Given the description of an element on the screen output the (x, y) to click on. 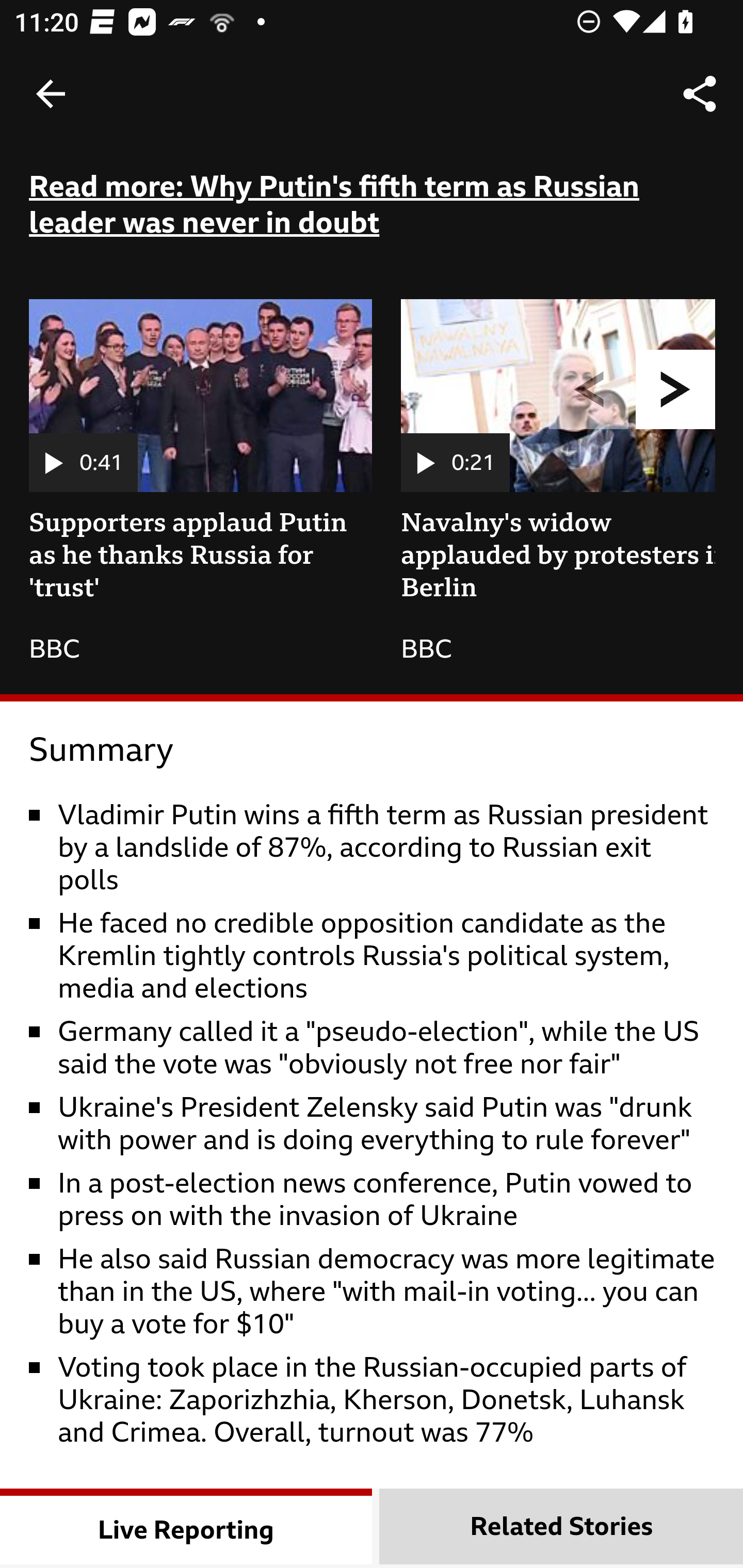
Back (50, 93)
Share (699, 93)
previous (589, 390)
next (676, 390)
Live Reporting (186, 1527)
Related Stories (560, 1527)
